Given the description of an element on the screen output the (x, y) to click on. 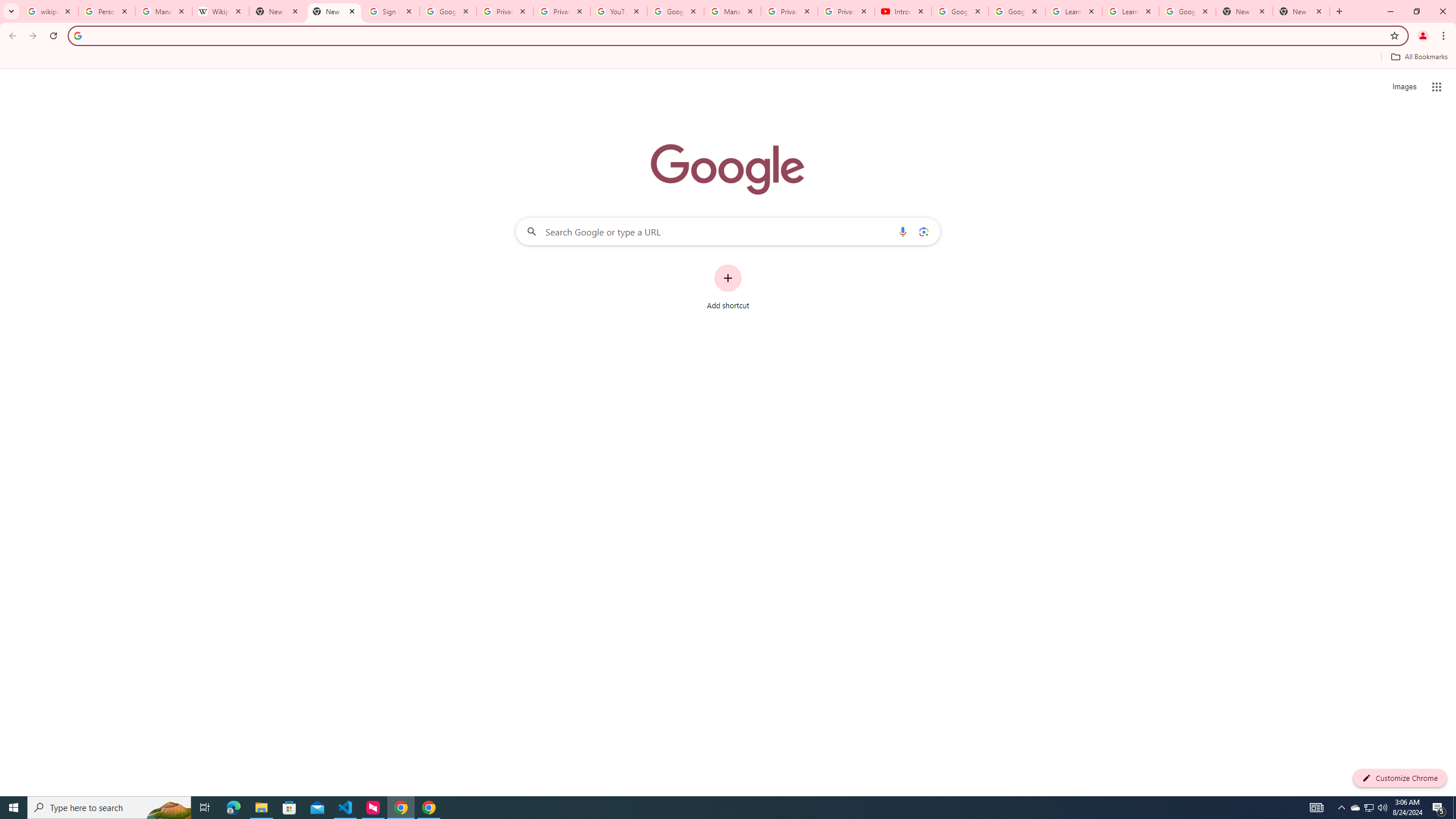
Google Account Help (1015, 11)
New Tab (1244, 11)
Manage your Location History - Google Search Help (163, 11)
